Given the description of an element on the screen output the (x, y) to click on. 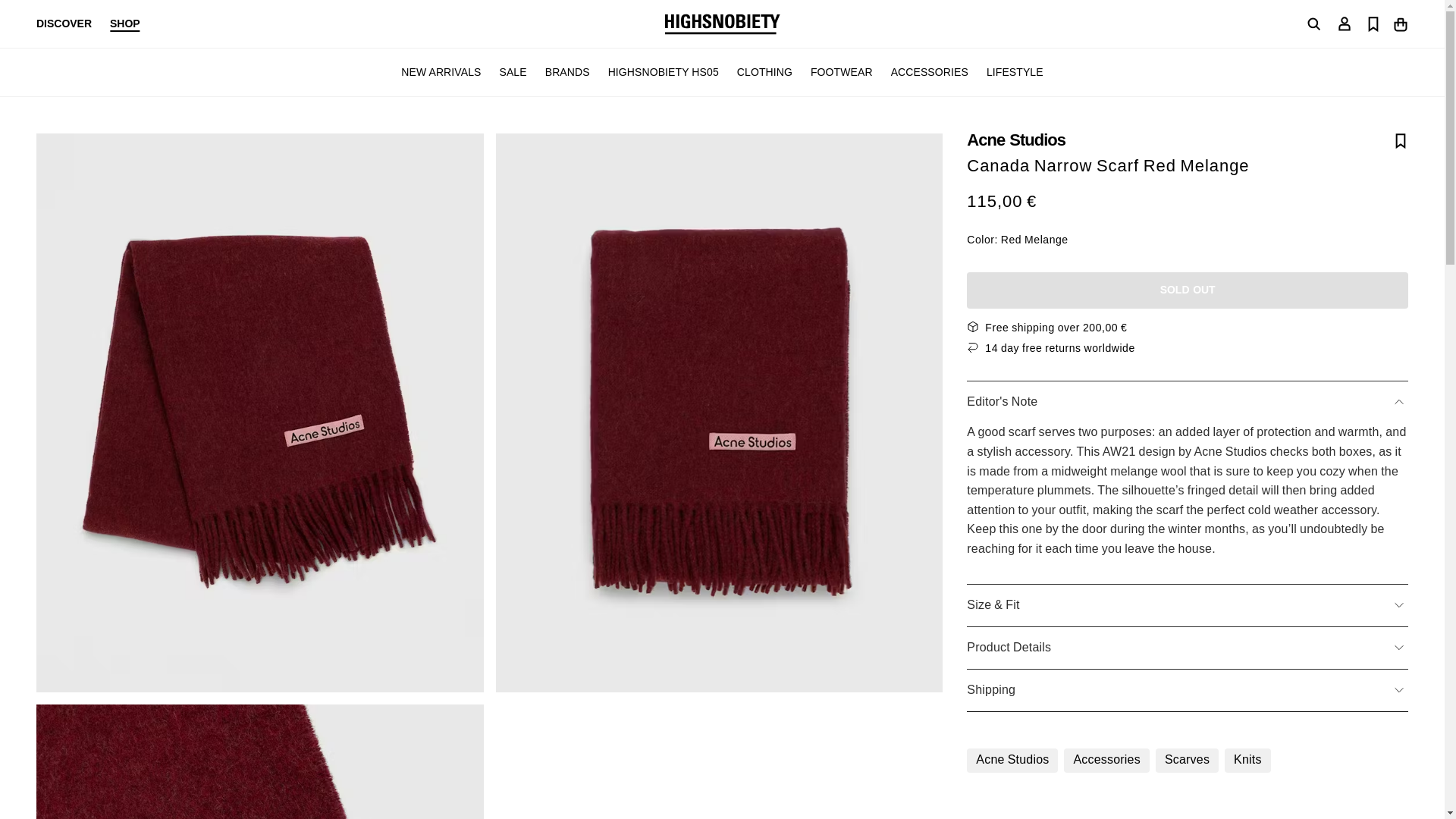
Go To Search (1314, 23)
Go To Saved (1372, 23)
Highsnobiety (720, 24)
Go To Shopping Cart (1400, 23)
Go To Account (1344, 23)
